Given the description of an element on the screen output the (x, y) to click on. 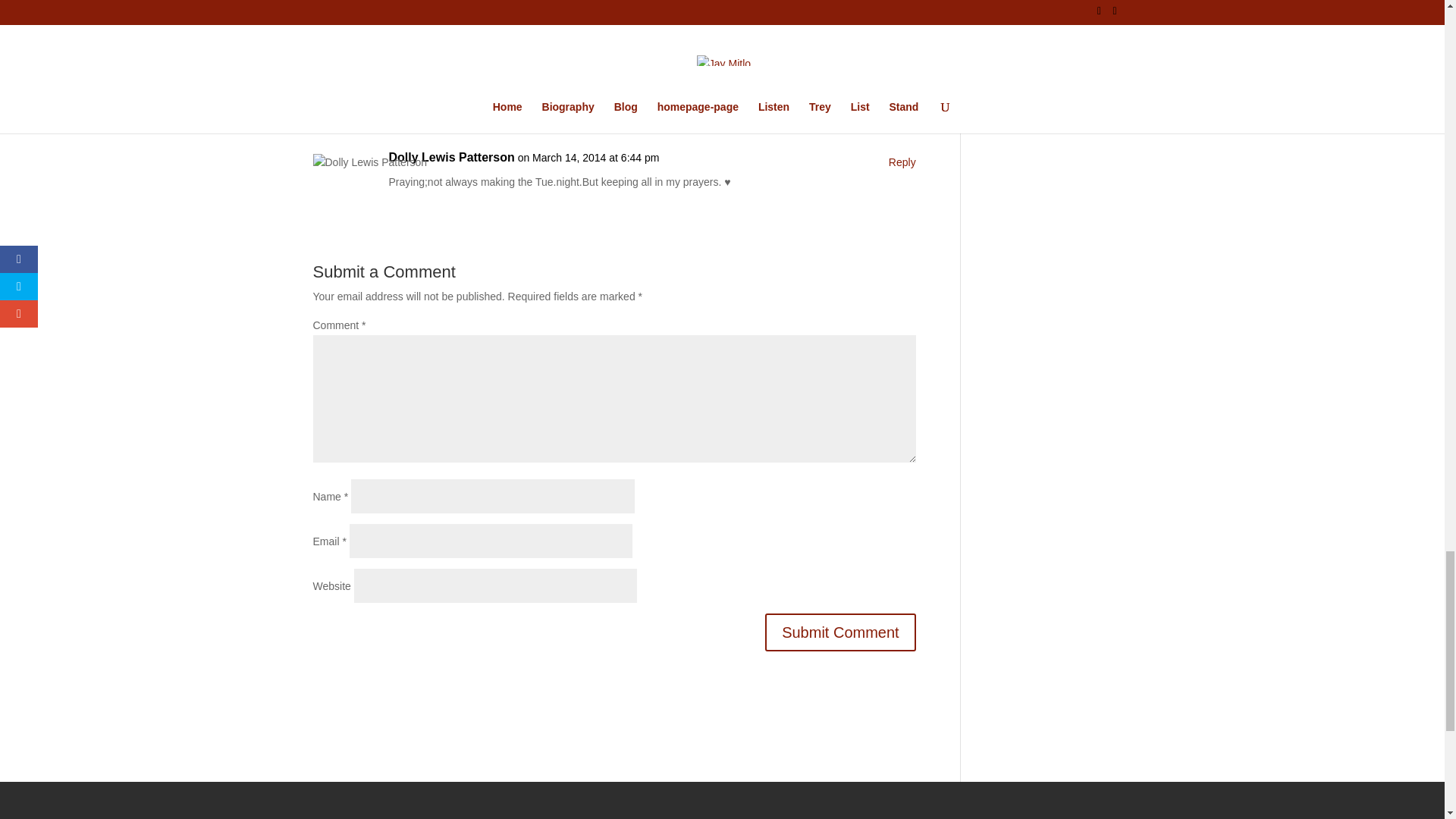
Reply (879, 335)
Reply (879, 438)
